Given the description of an element on the screen output the (x, y) to click on. 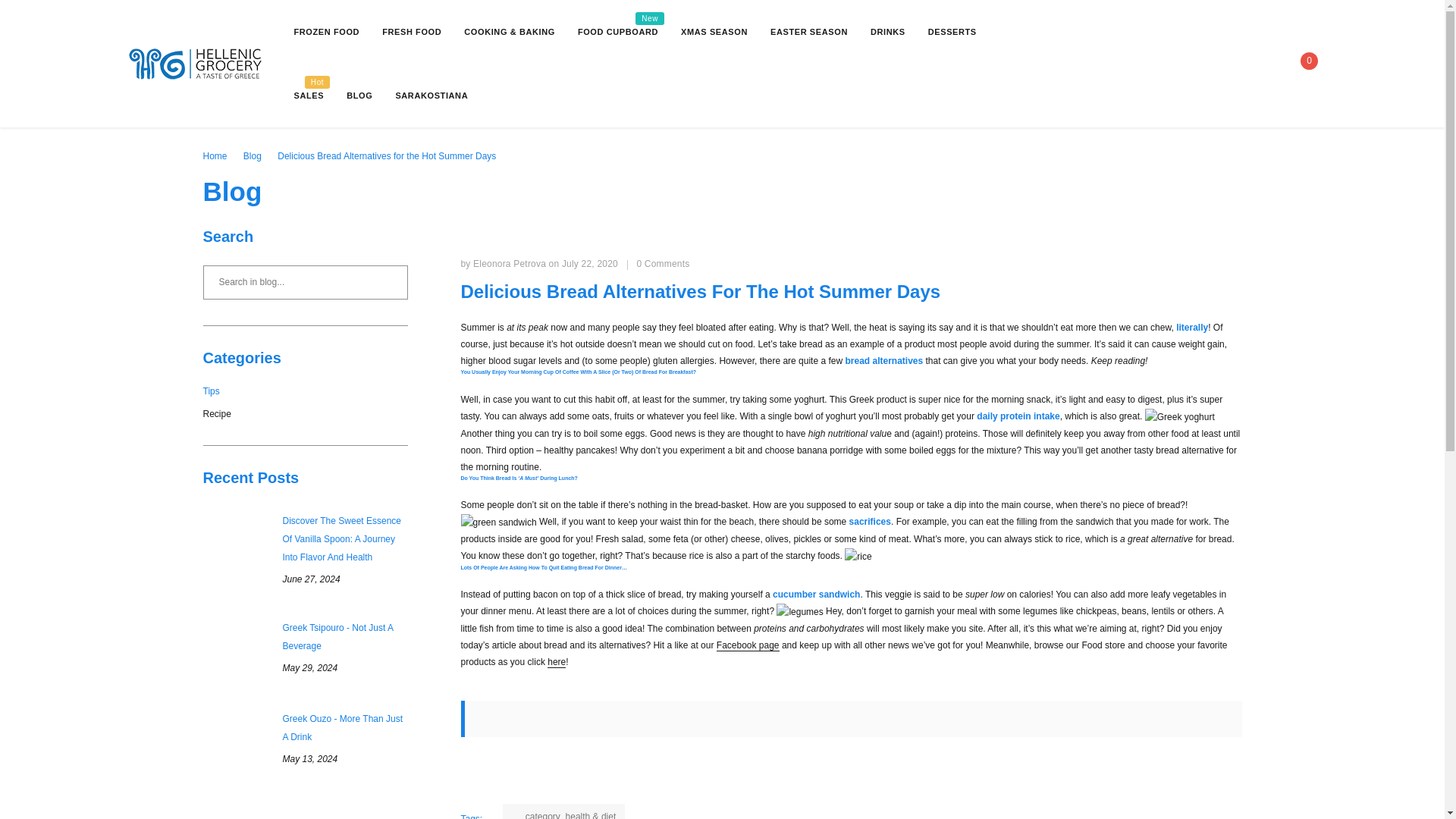
EASTER SEASON (808, 31)
BLOG (359, 94)
DRINKS (887, 31)
FROZEN FOOD (326, 31)
Recipe (305, 412)
0 (618, 31)
Home (1303, 62)
SARAKOSTIANA (215, 155)
